Given the description of an element on the screen output the (x, y) to click on. 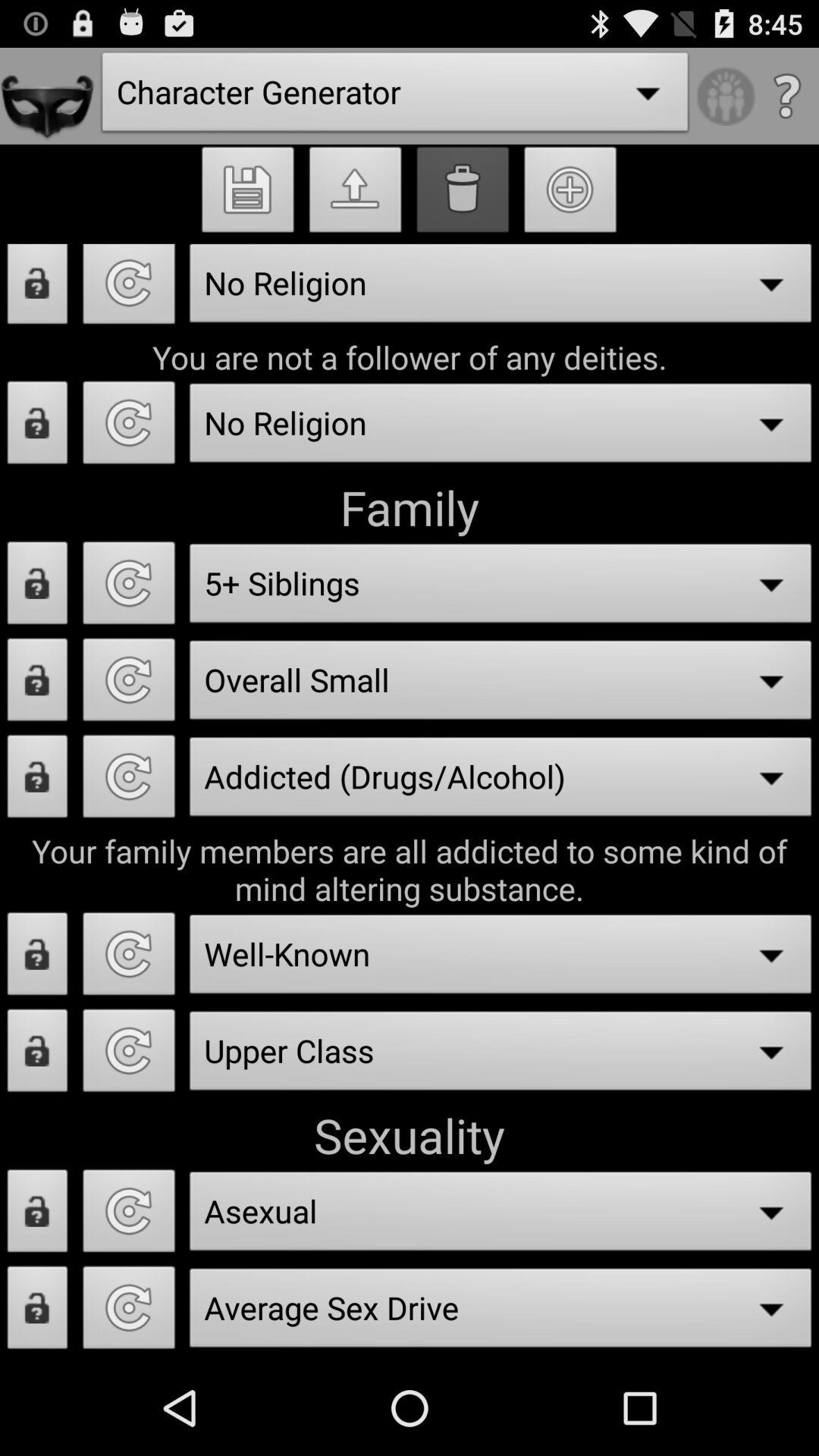
randomize trait (129, 1054)
